Given the description of an element on the screen output the (x, y) to click on. 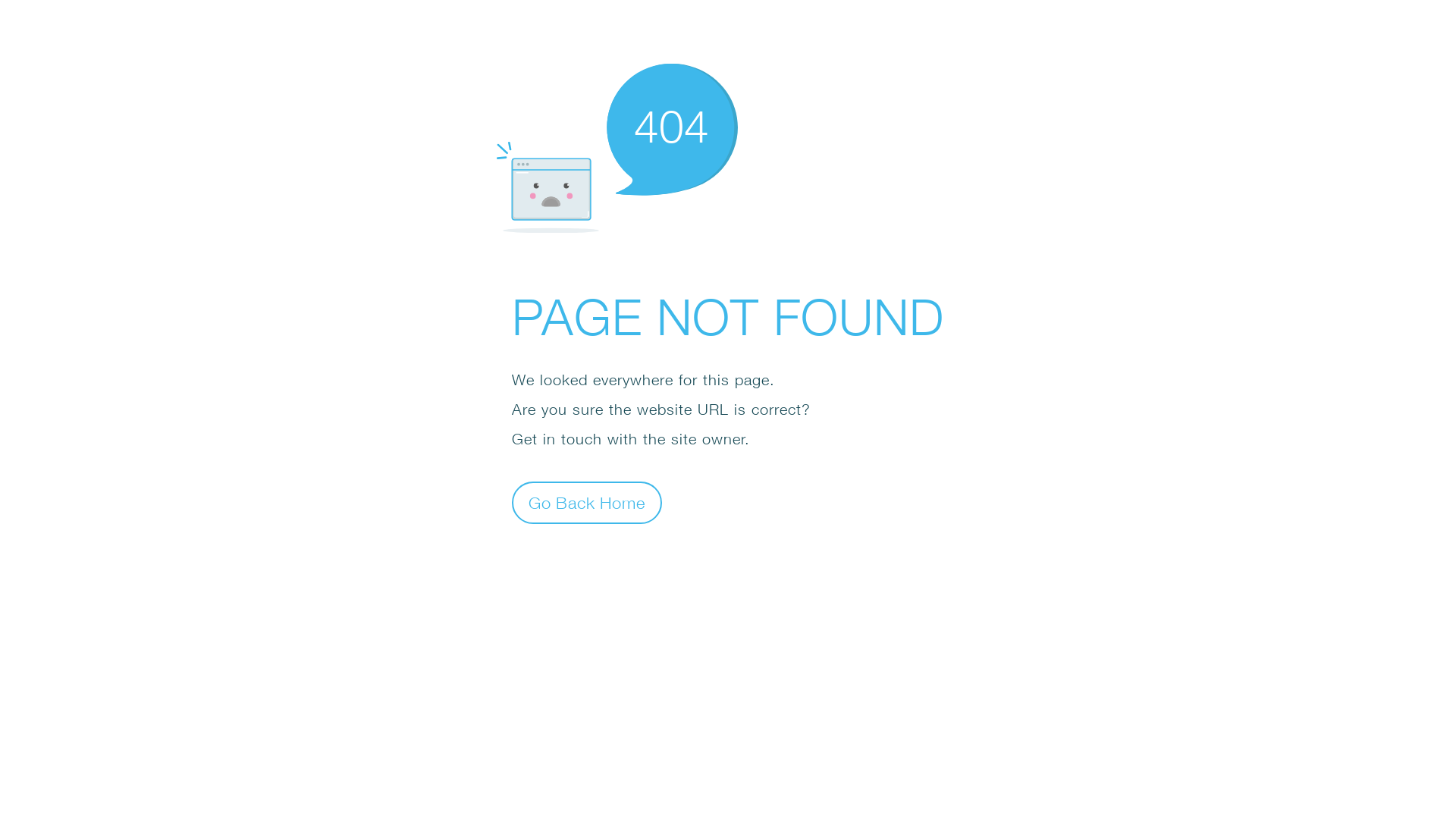
Go Back Home Element type: text (586, 502)
